Given the description of an element on the screen output the (x, y) to click on. 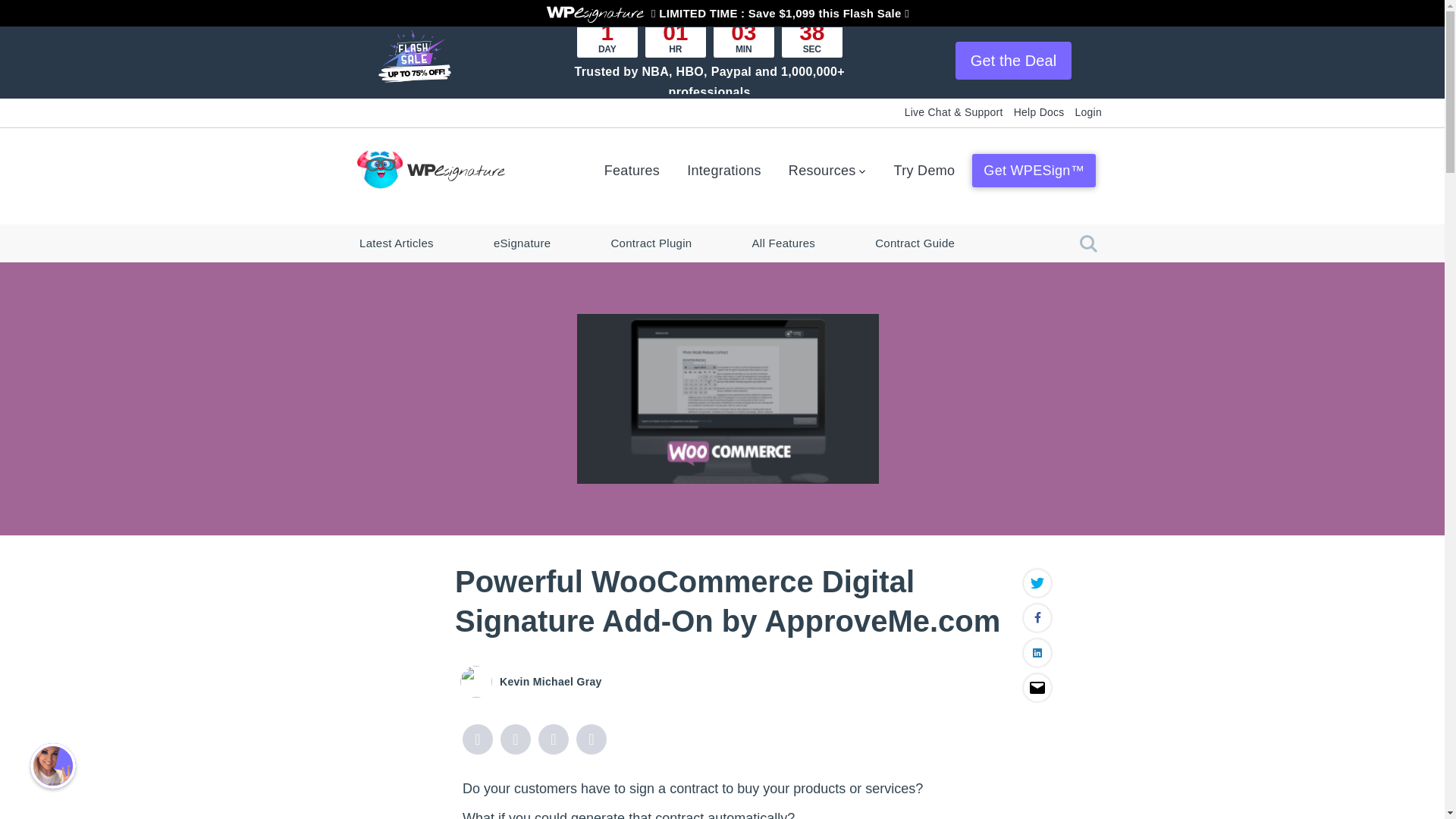
Try Demo (924, 165)
Features (631, 165)
Login (1088, 111)
View ALL features (631, 165)
Contract Plugin (650, 243)
Resources (827, 165)
Help Docs (1038, 111)
Get the Deal (1013, 60)
Try Demo (924, 165)
All Features (784, 243)
Contract Guide (914, 243)
Integrations (724, 165)
WP E-Signature (595, 14)
Help Docs (1038, 111)
eSignature (522, 243)
